Given the description of an element on the screen output the (x, y) to click on. 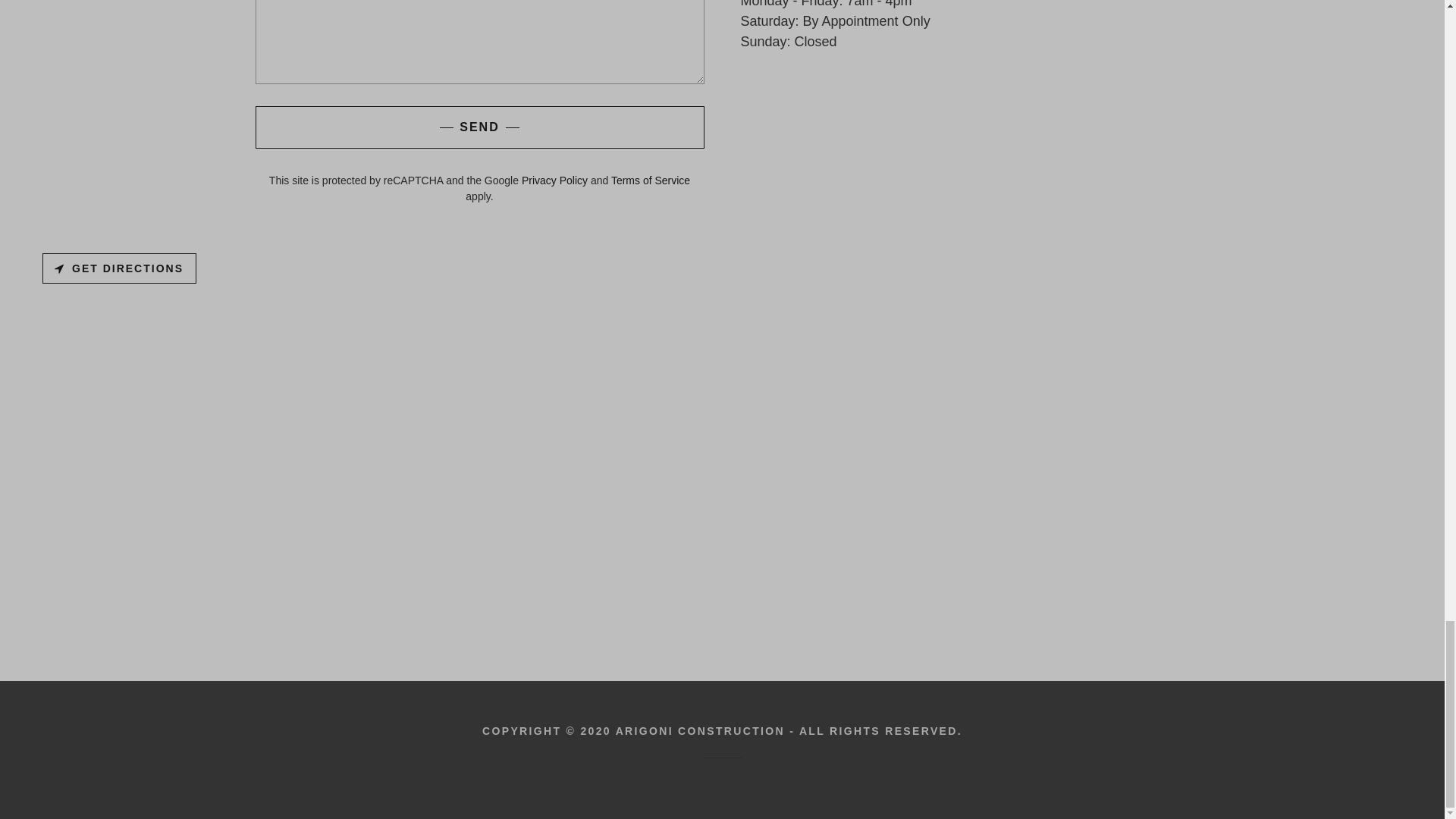
SEND (478, 127)
Privacy Policy (554, 180)
Terms of Service (650, 180)
GET DIRECTIONS (119, 268)
